Given the description of an element on the screen output the (x, y) to click on. 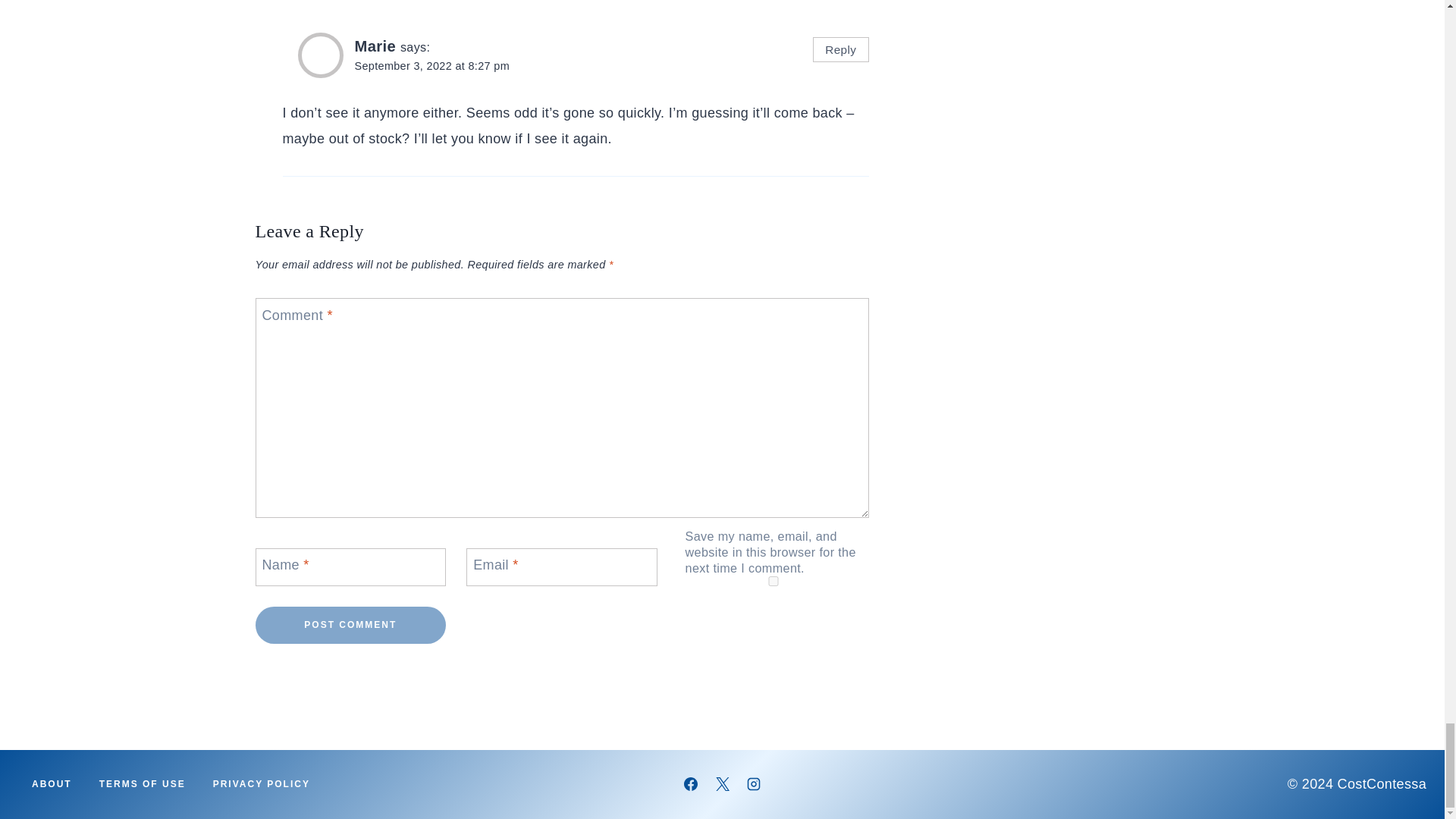
yes (773, 581)
Post Comment (349, 624)
